Given the description of an element on the screen output the (x, y) to click on. 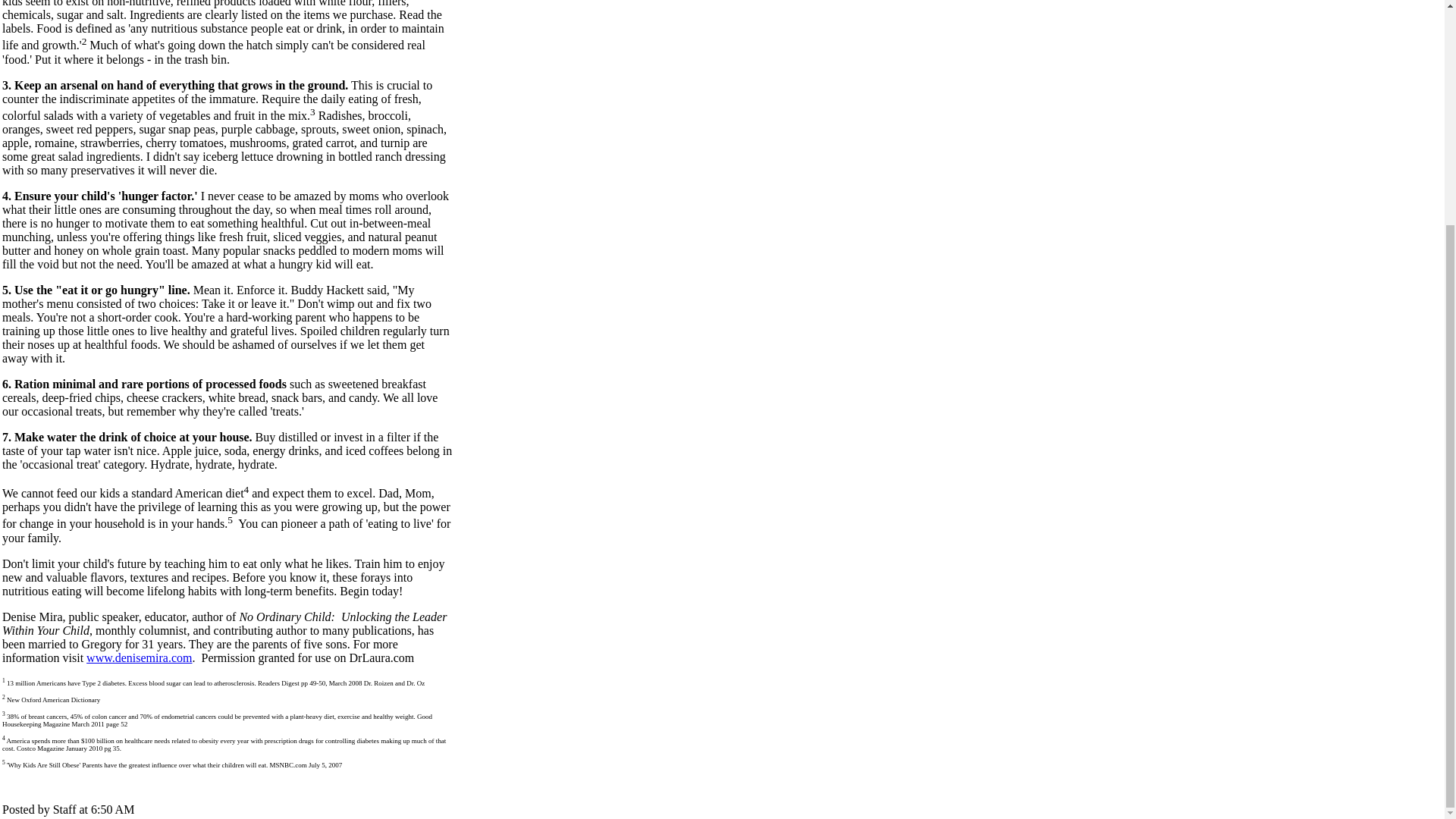
www.denisemira.com (138, 657)
